Given the description of an element on the screen output the (x, y) to click on. 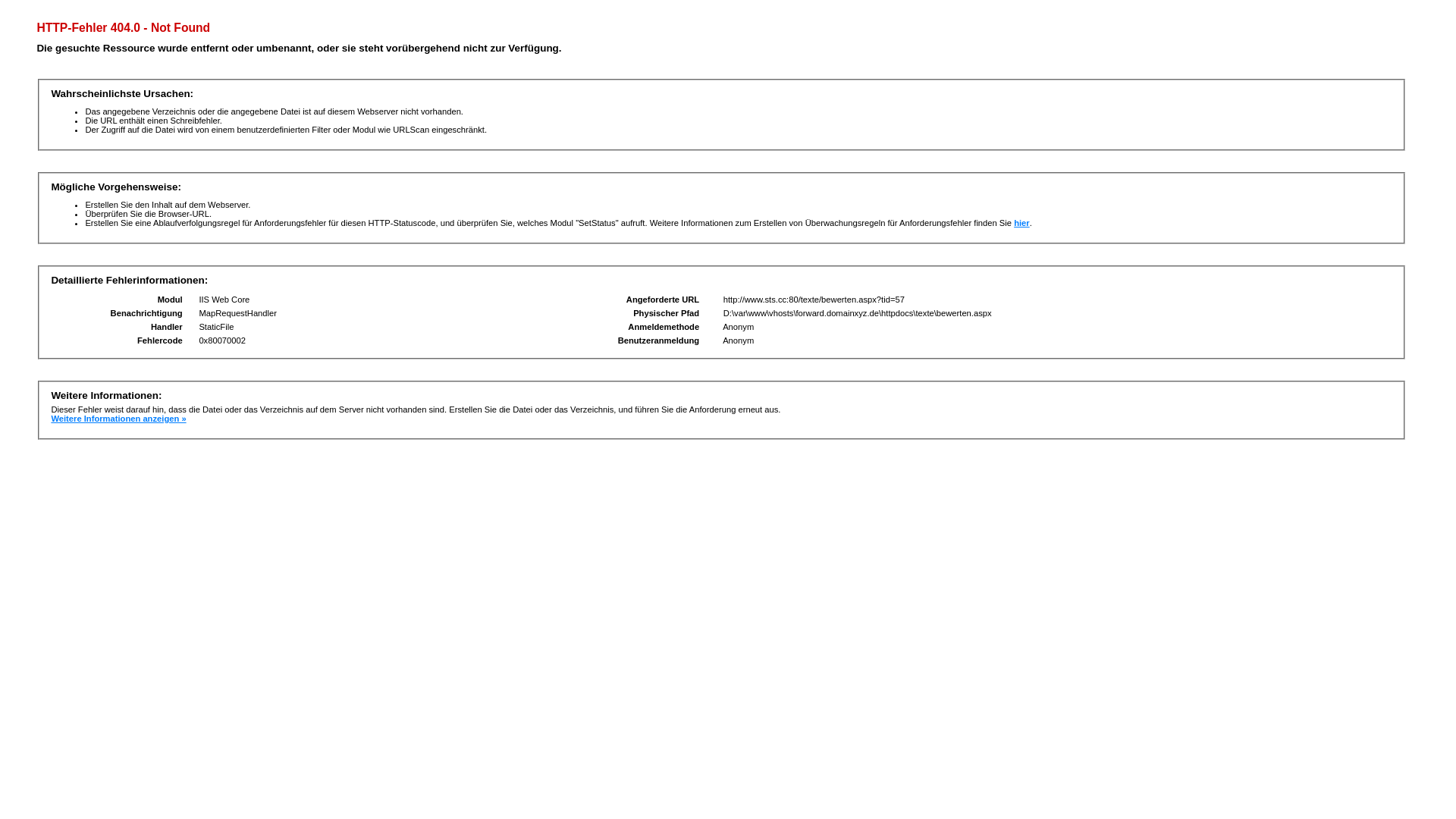
hier Element type: text (1021, 222)
